Given the description of an element on the screen output the (x, y) to click on. 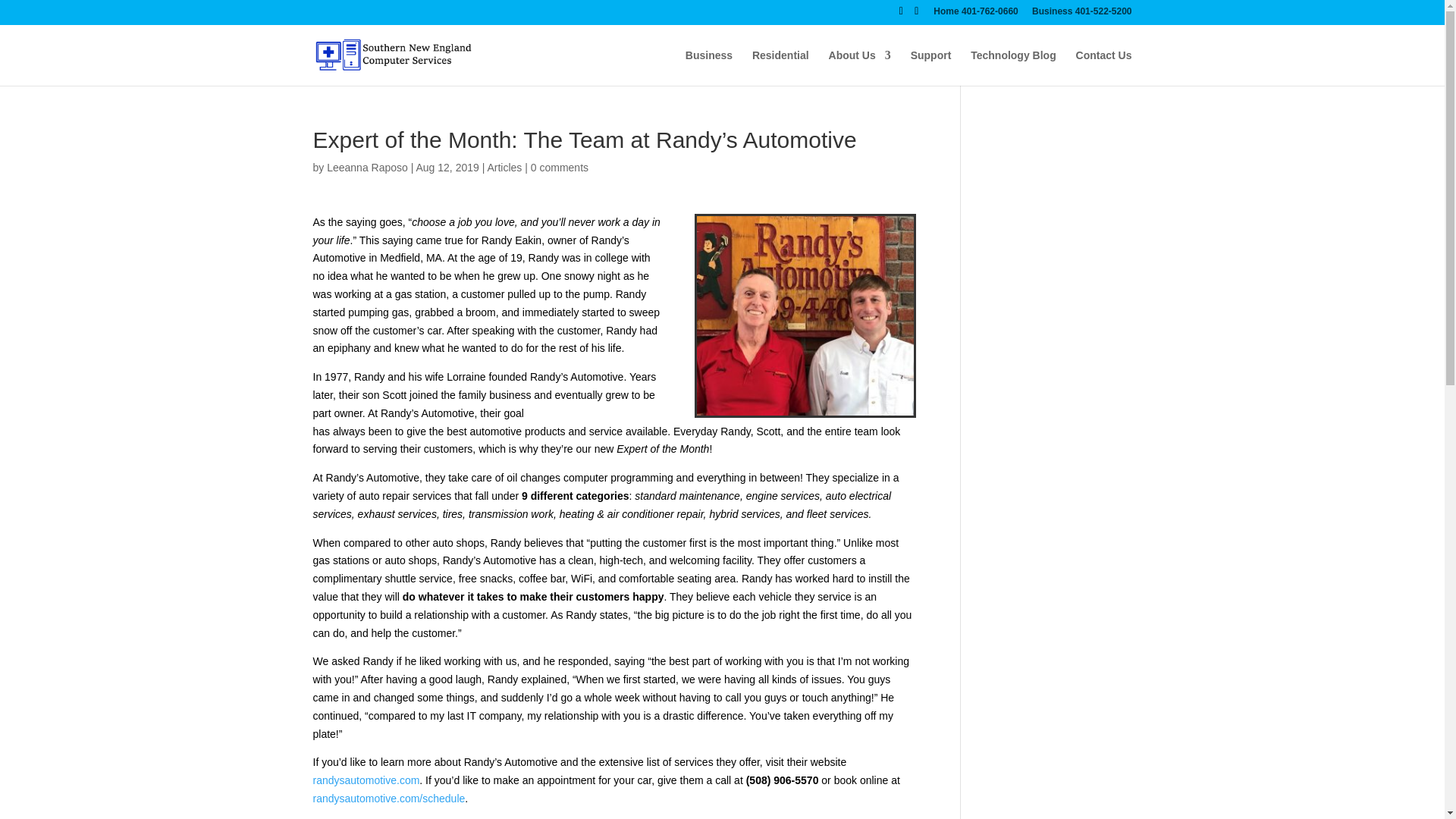
Support (931, 67)
Contact Us (1103, 67)
0 comments (559, 167)
Residential (780, 67)
Home 401-762-0660 (975, 14)
Technology Blog (1014, 67)
Articles (503, 167)
Leeanna Raposo (366, 167)
randysautomotive.com (366, 779)
About Us (859, 67)
Posts by Leeanna Raposo (366, 167)
Business 401-522-5200 (1081, 14)
Business (708, 67)
